Given the description of an element on the screen output the (x, y) to click on. 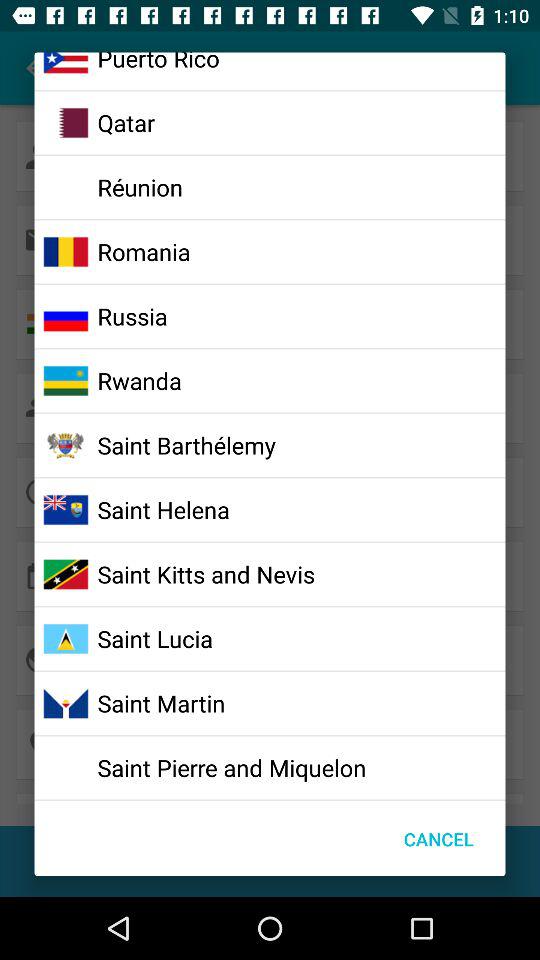
choose the cancel at the bottom right corner (438, 838)
